Given the description of an element on the screen output the (x, y) to click on. 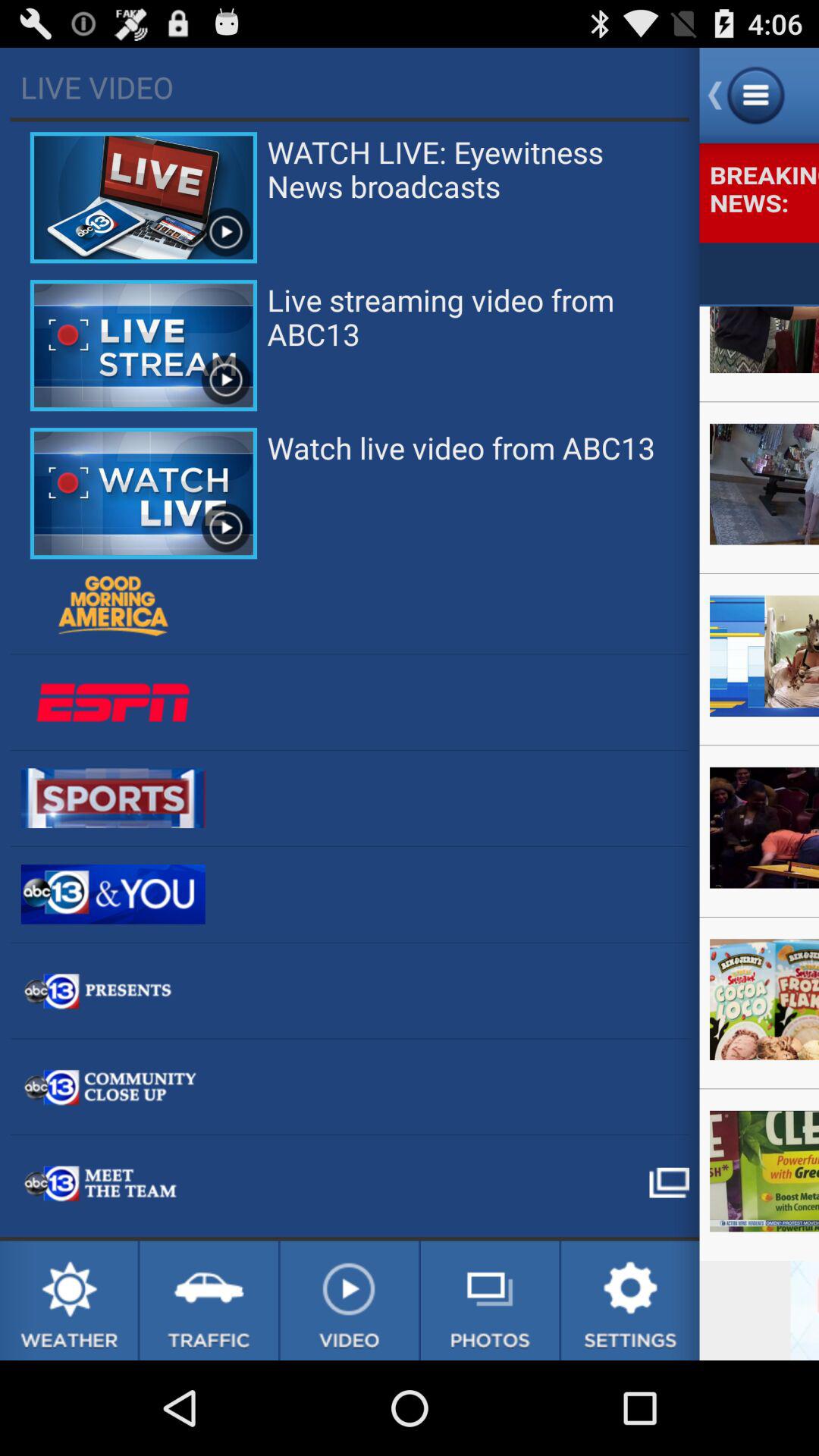
settings button (630, 1300)
